Given the description of an element on the screen output the (x, y) to click on. 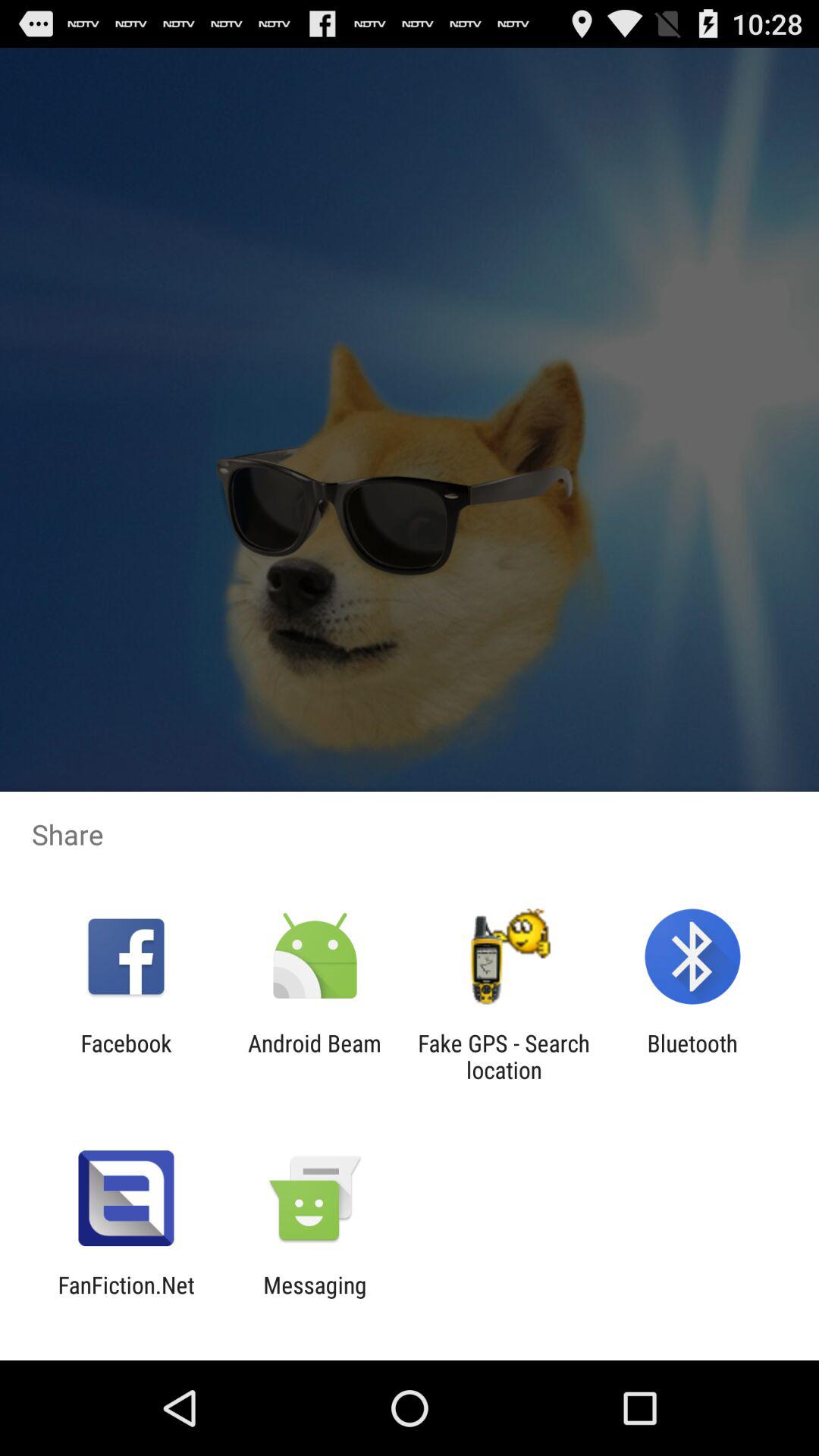
select the facebook (125, 1056)
